Given the description of an element on the screen output the (x, y) to click on. 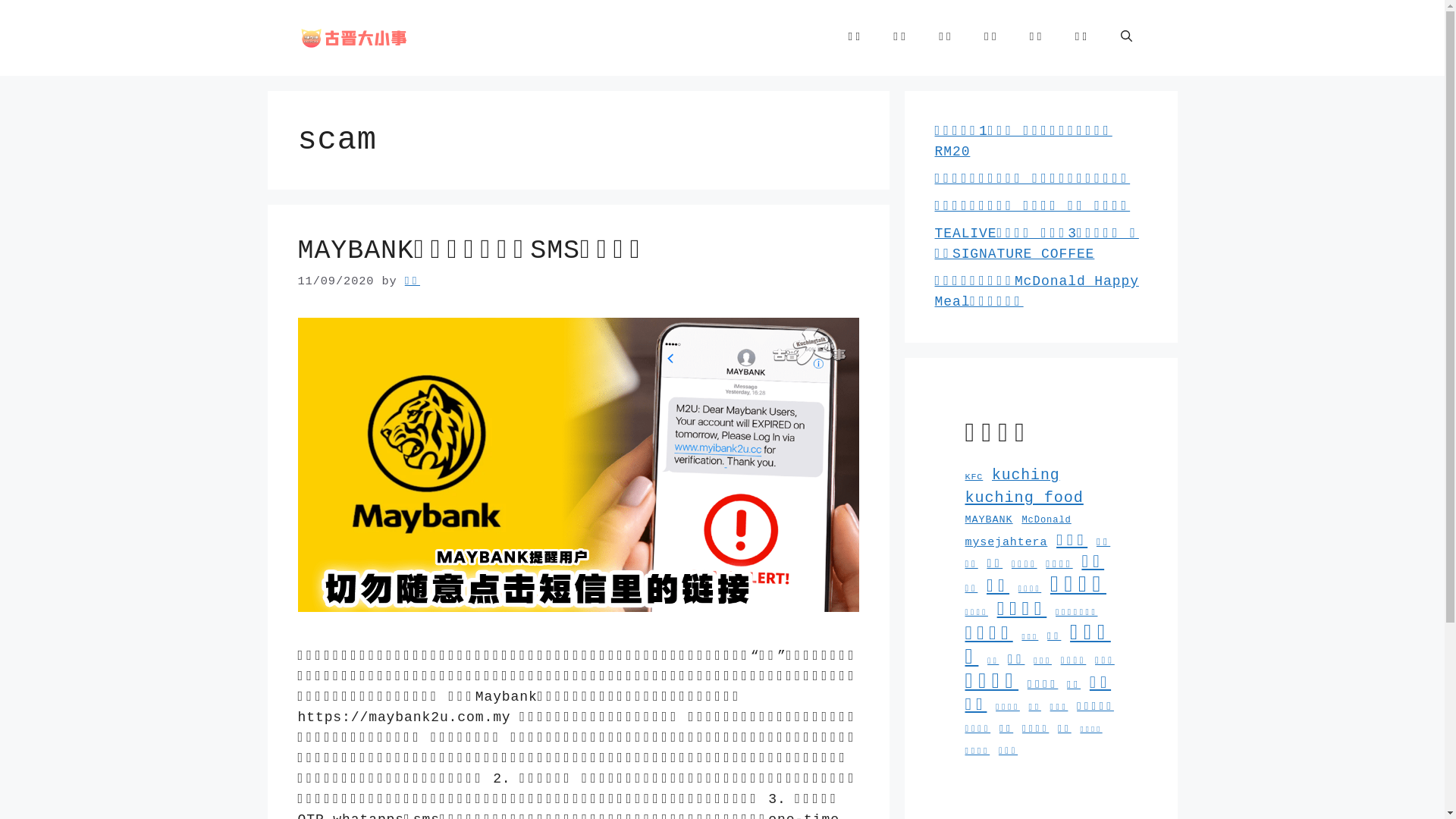
kuching Element type: text (1025, 475)
KFC Element type: text (973, 476)
McDonald Element type: text (1045, 519)
mysejahtera Element type: text (1005, 542)
kuching food Element type: text (1023, 497)
MAYBANK Element type: text (988, 519)
